Given the description of an element on the screen output the (x, y) to click on. 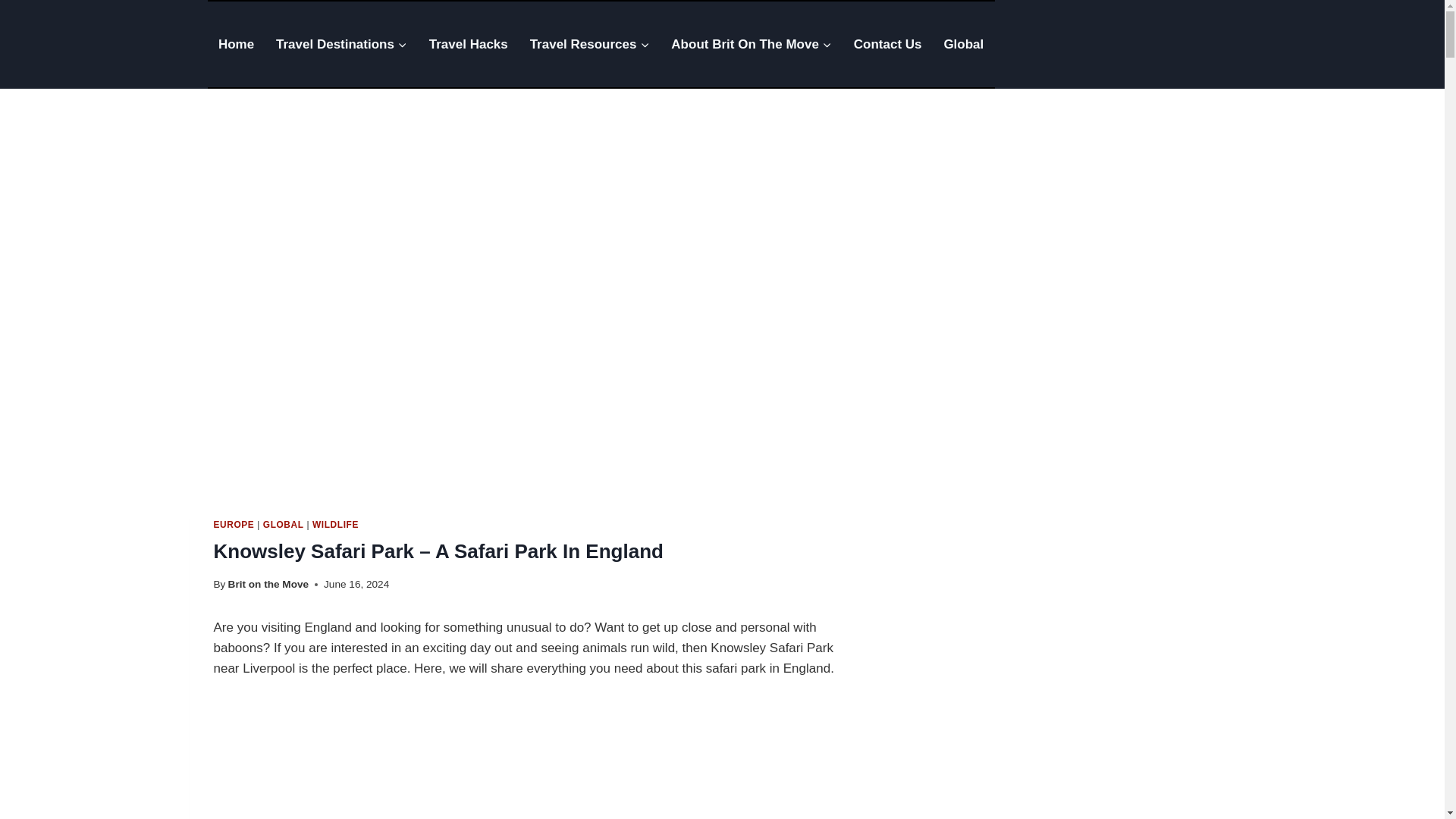
Travel Destinations (341, 43)
Home (236, 43)
